Given the description of an element on the screen output the (x, y) to click on. 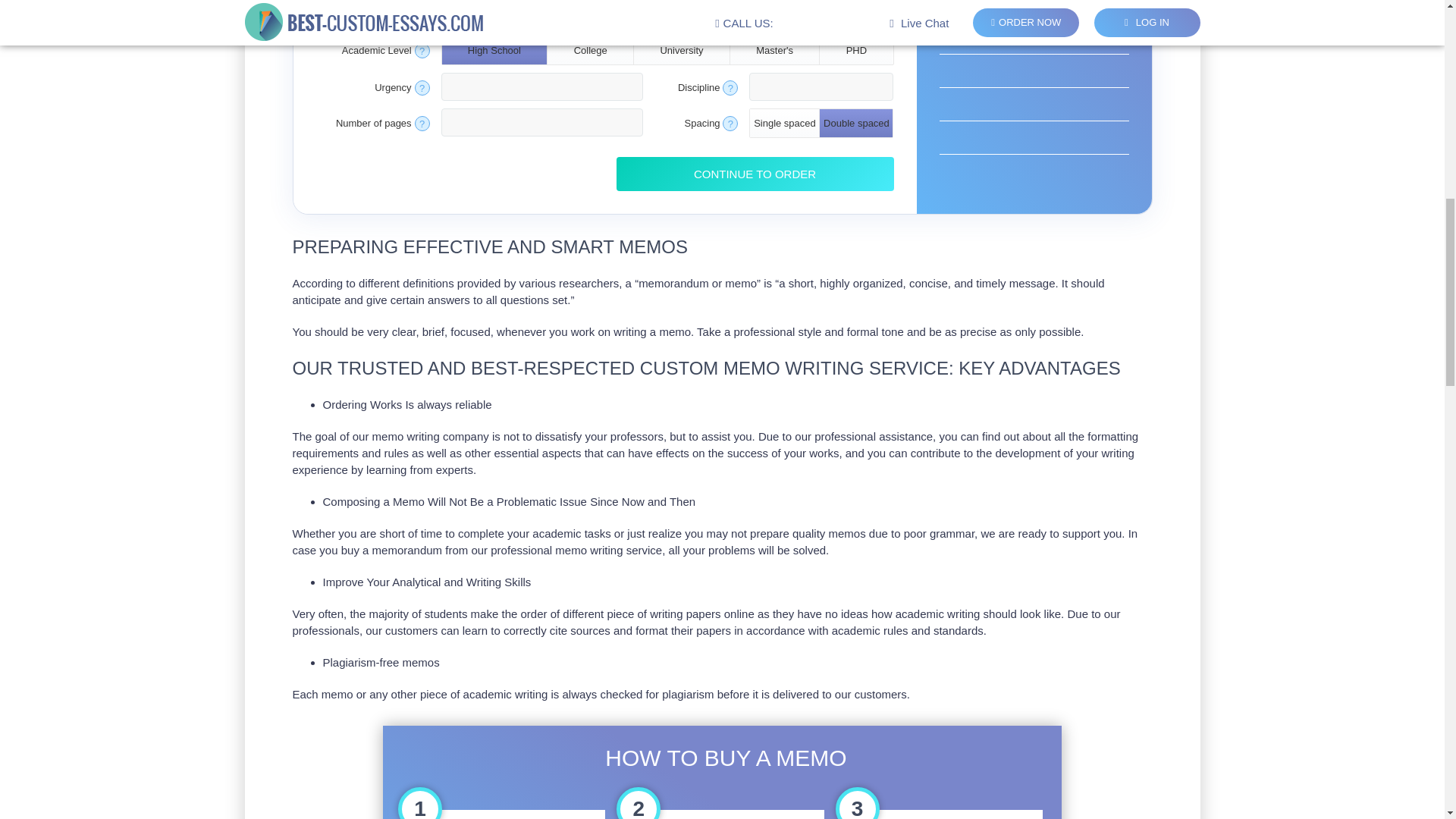
Continue to order (754, 173)
